Given the description of an element on the screen output the (x, y) to click on. 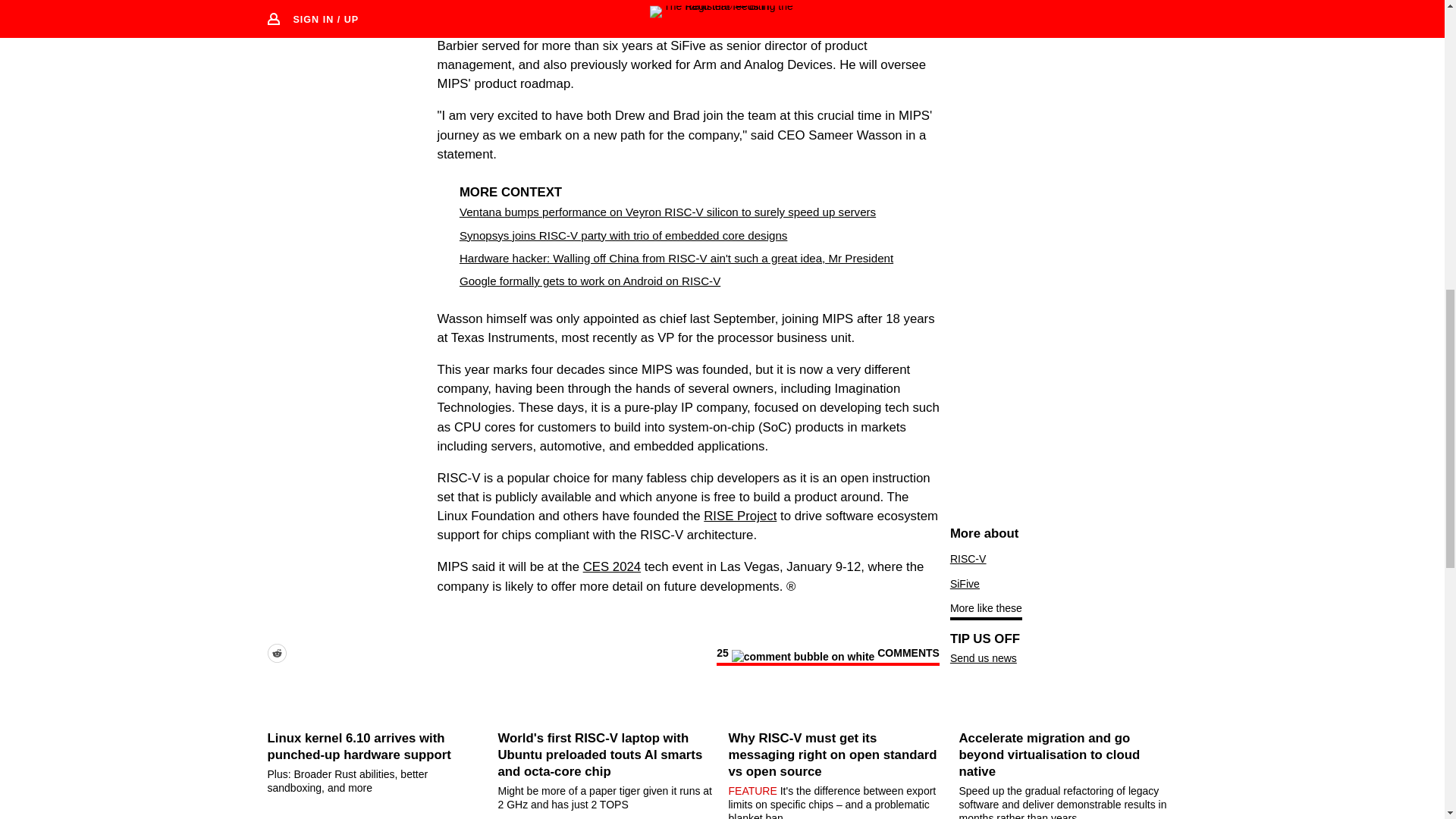
View comments on this article (827, 656)
